Given the description of an element on the screen output the (x, y) to click on. 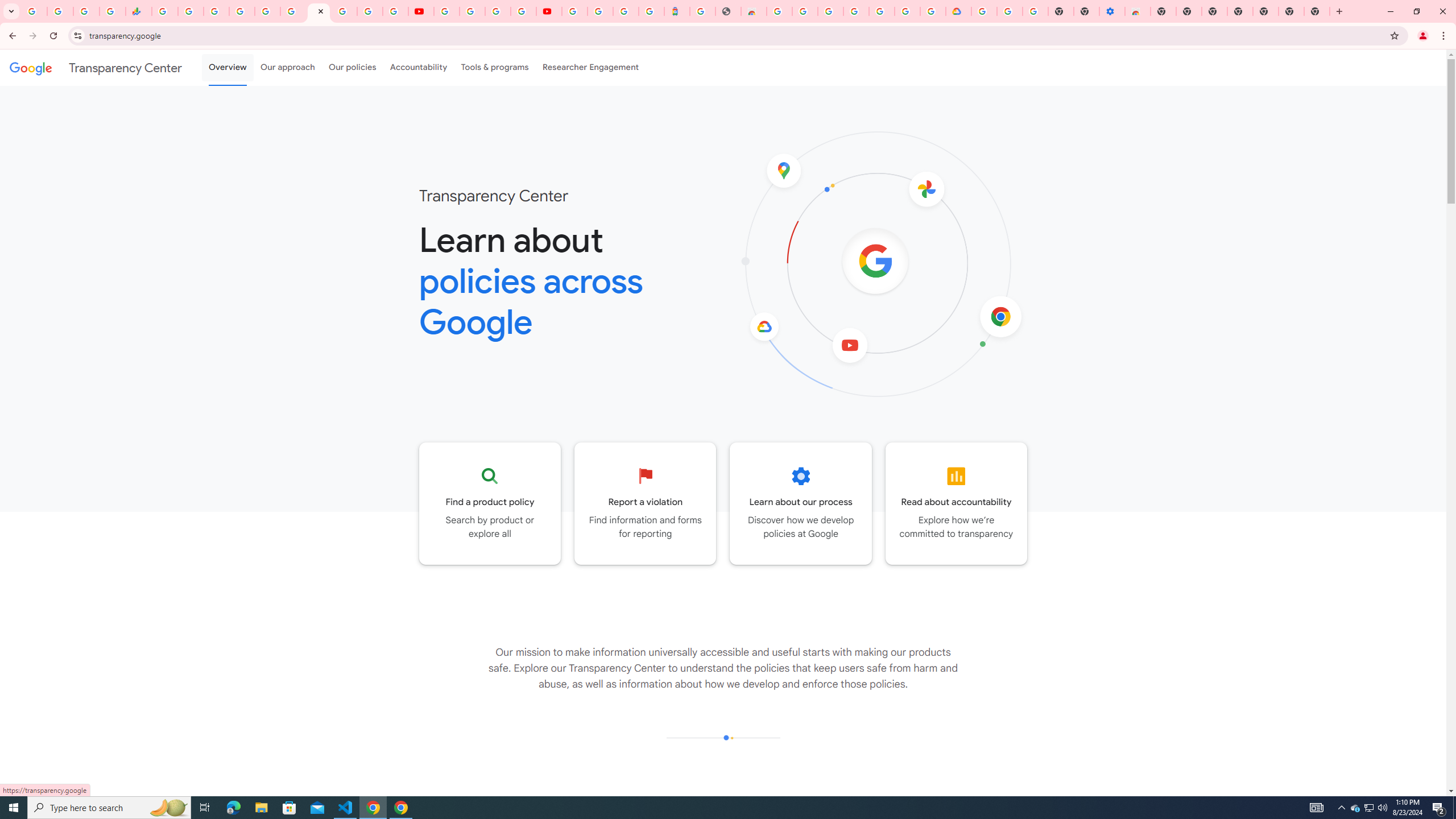
Sign in - Google Accounts (242, 11)
Tools & programs (494, 67)
System (6, 6)
YouTube (421, 11)
System (6, 6)
New Tab (1338, 11)
New Tab (1265, 11)
Close (321, 11)
Privacy Checkup (395, 11)
Forward (32, 35)
View site information (77, 35)
